Given the description of an element on the screen output the (x, y) to click on. 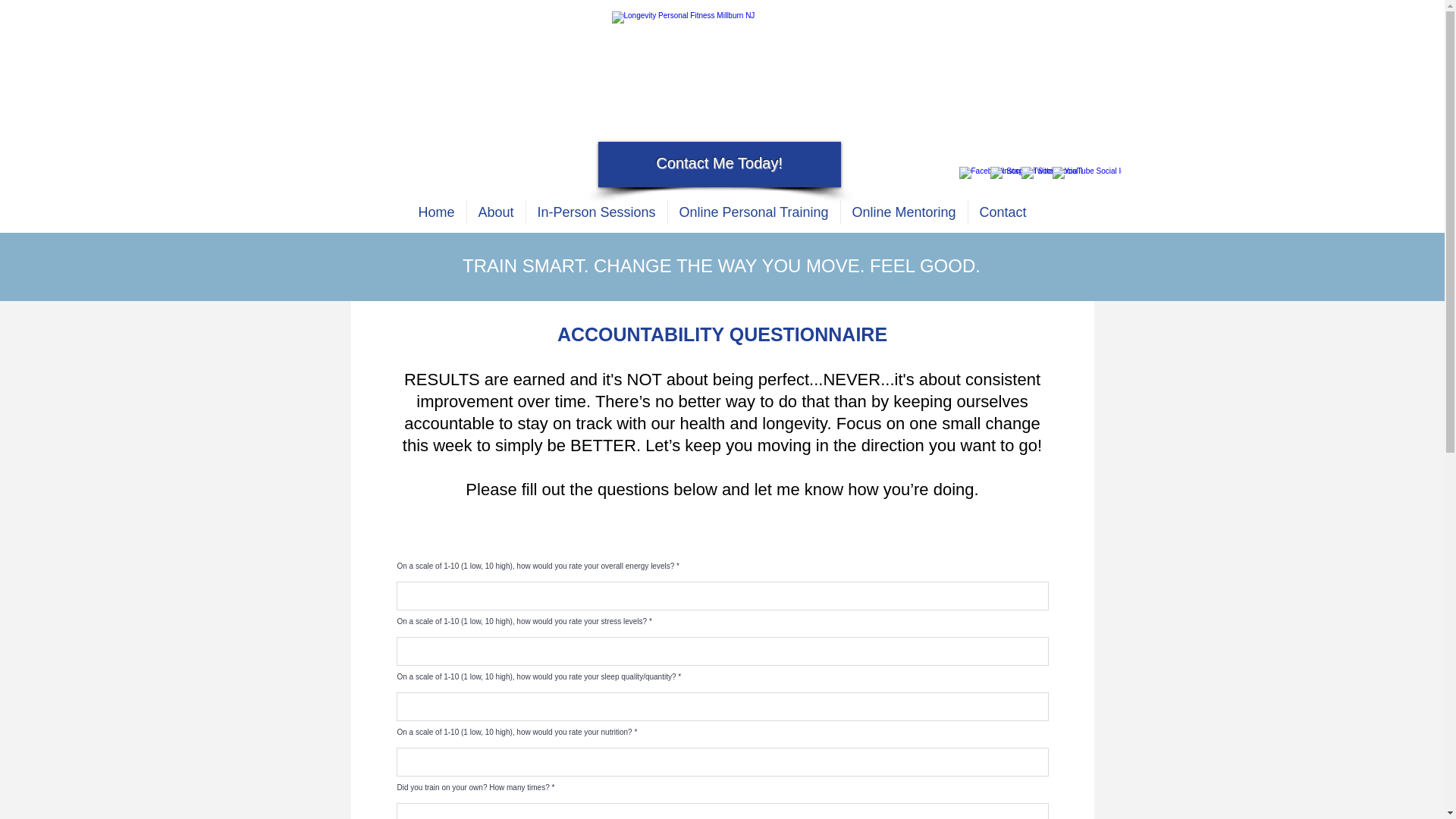
Home (435, 211)
Online Personal Training (753, 211)
About (496, 211)
Contact (1002, 211)
In-Person Sessions (595, 211)
Online Mentoring (903, 211)
Contact Me Today! (718, 162)
